Given the description of an element on the screen output the (x, y) to click on. 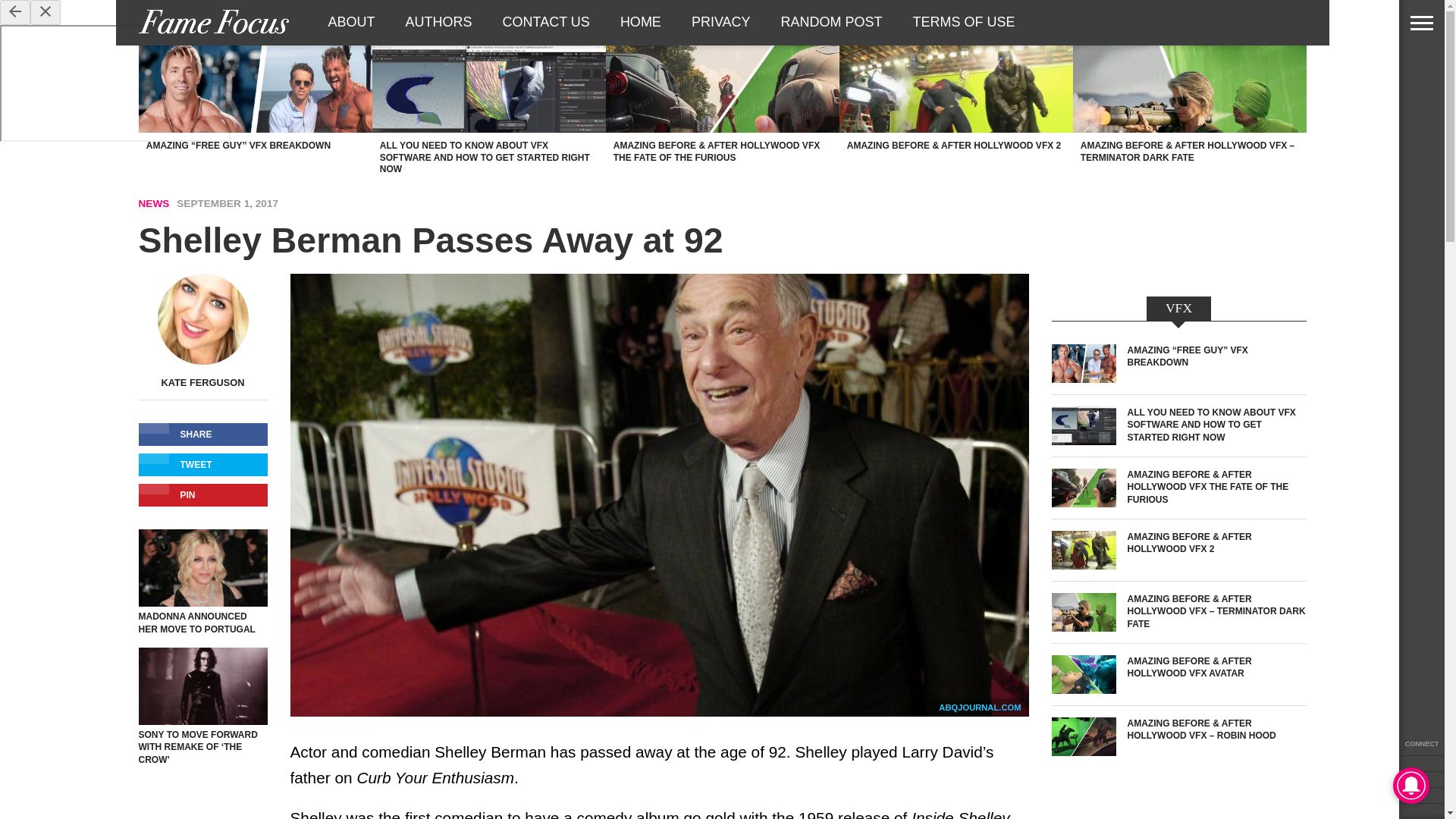
AUTHORS (438, 22)
ABOUT (351, 22)
CONTACT US (546, 22)
RANDOM POST (831, 22)
KATE FERGUSON (202, 382)
Posts by Kate Ferguson (202, 382)
Advertisement (1178, 814)
PRIVACY (721, 22)
HOME (641, 22)
TERMS OF USE (964, 22)
NEWS (153, 203)
